Given the description of an element on the screen output the (x, y) to click on. 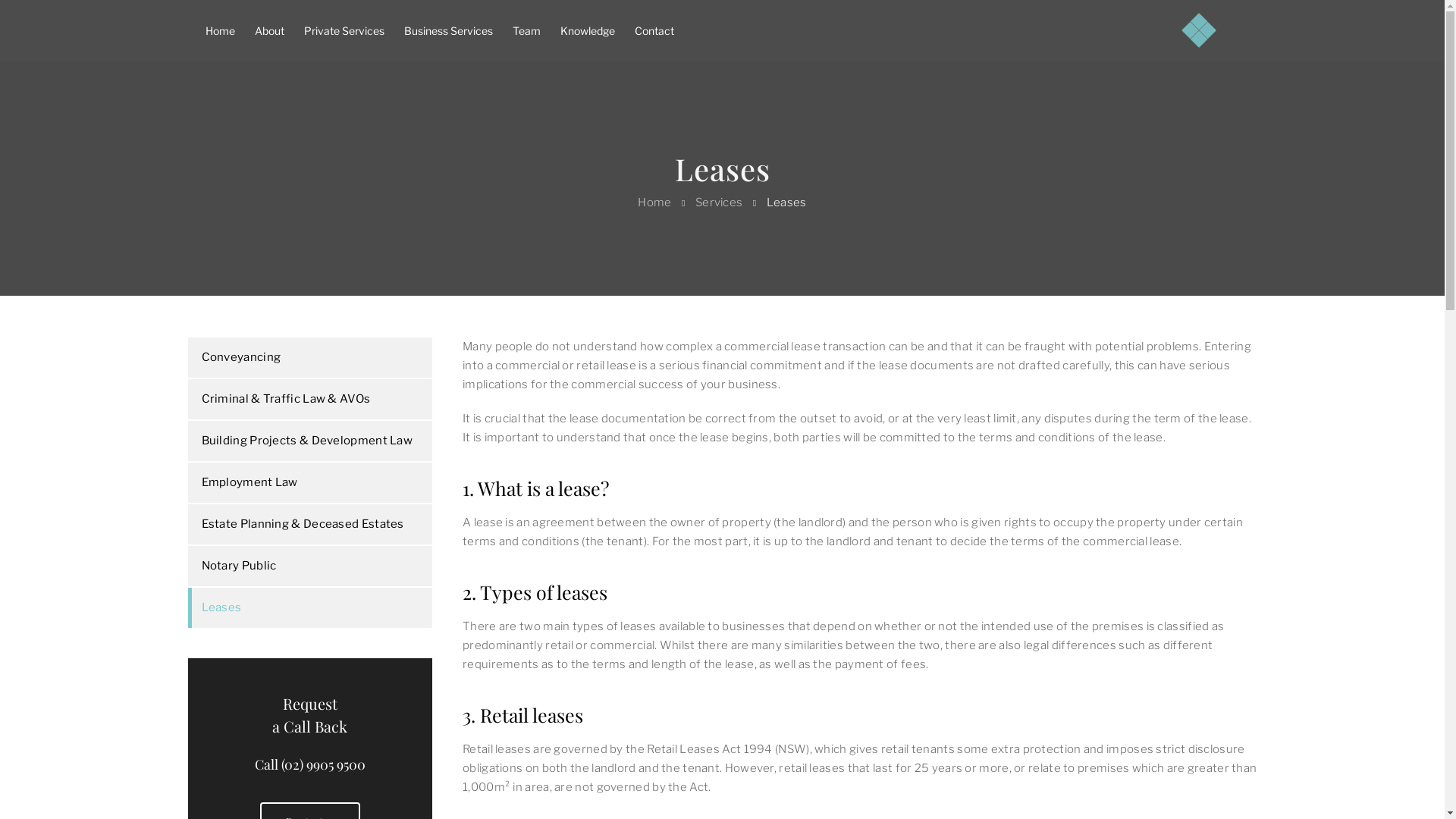
Business Services Element type: text (448, 30)
Team Element type: text (525, 30)
Employment Law Element type: text (310, 482)
Knowledge Element type: text (587, 30)
Conveyancing Element type: text (310, 357)
Notary Public Element type: text (310, 566)
Home Element type: text (219, 30)
Criminal & Traffic Law & AVOs Element type: text (310, 399)
About Element type: text (268, 30)
Services Element type: text (718, 202)
Home Element type: text (654, 202)
Leases Element type: text (310, 607)
Contact Element type: text (654, 30)
Private Services Element type: text (344, 30)
Estate Planning & Deceased Estates Element type: text (310, 524)
Building Projects & Development Law Element type: text (310, 440)
